Given the description of an element on the screen output the (x, y) to click on. 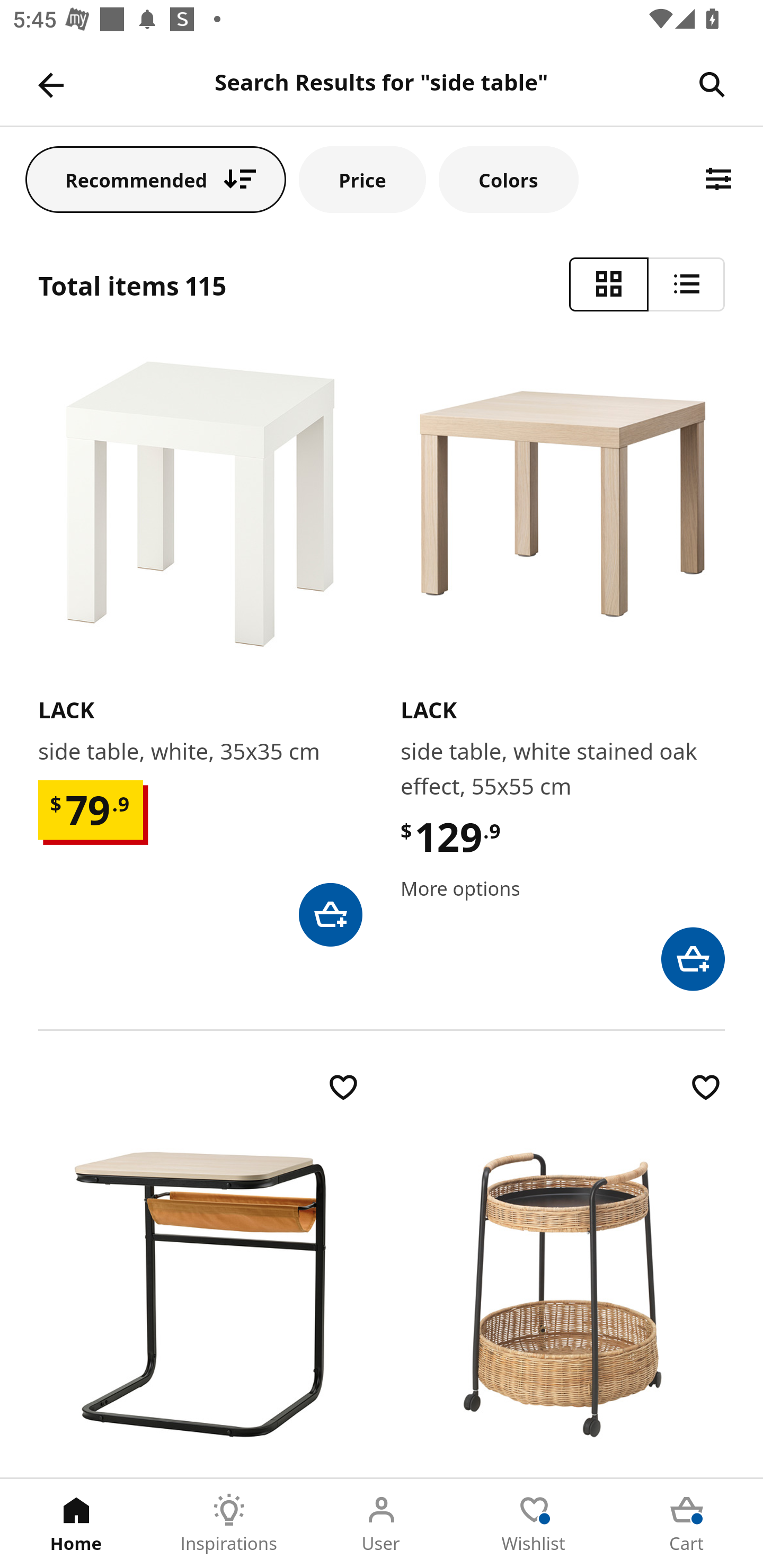
Recommended (155, 179)
Price (362, 179)
Colors (508, 179)
​L​A​C​K​
side table, white, 35x35 cm
$
79
.9 (200, 648)
Home
Tab 1 of 5 (76, 1522)
Inspirations
Tab 2 of 5 (228, 1522)
User
Tab 3 of 5 (381, 1522)
Wishlist
Tab 4 of 5 (533, 1522)
Cart
Tab 5 of 5 (686, 1522)
